Given the description of an element on the screen output the (x, y) to click on. 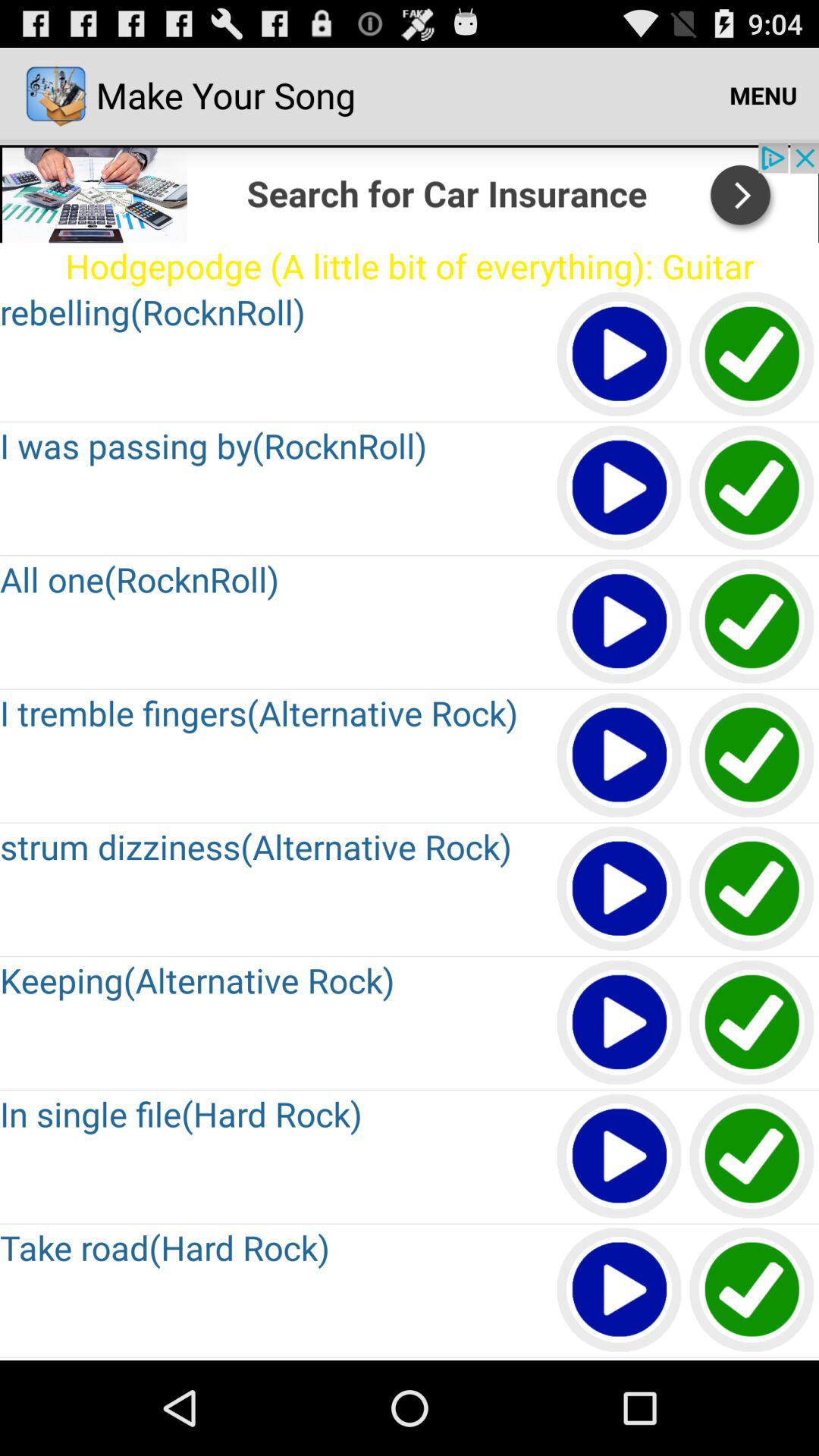
click to check box (752, 1290)
